Given the description of an element on the screen output the (x, y) to click on. 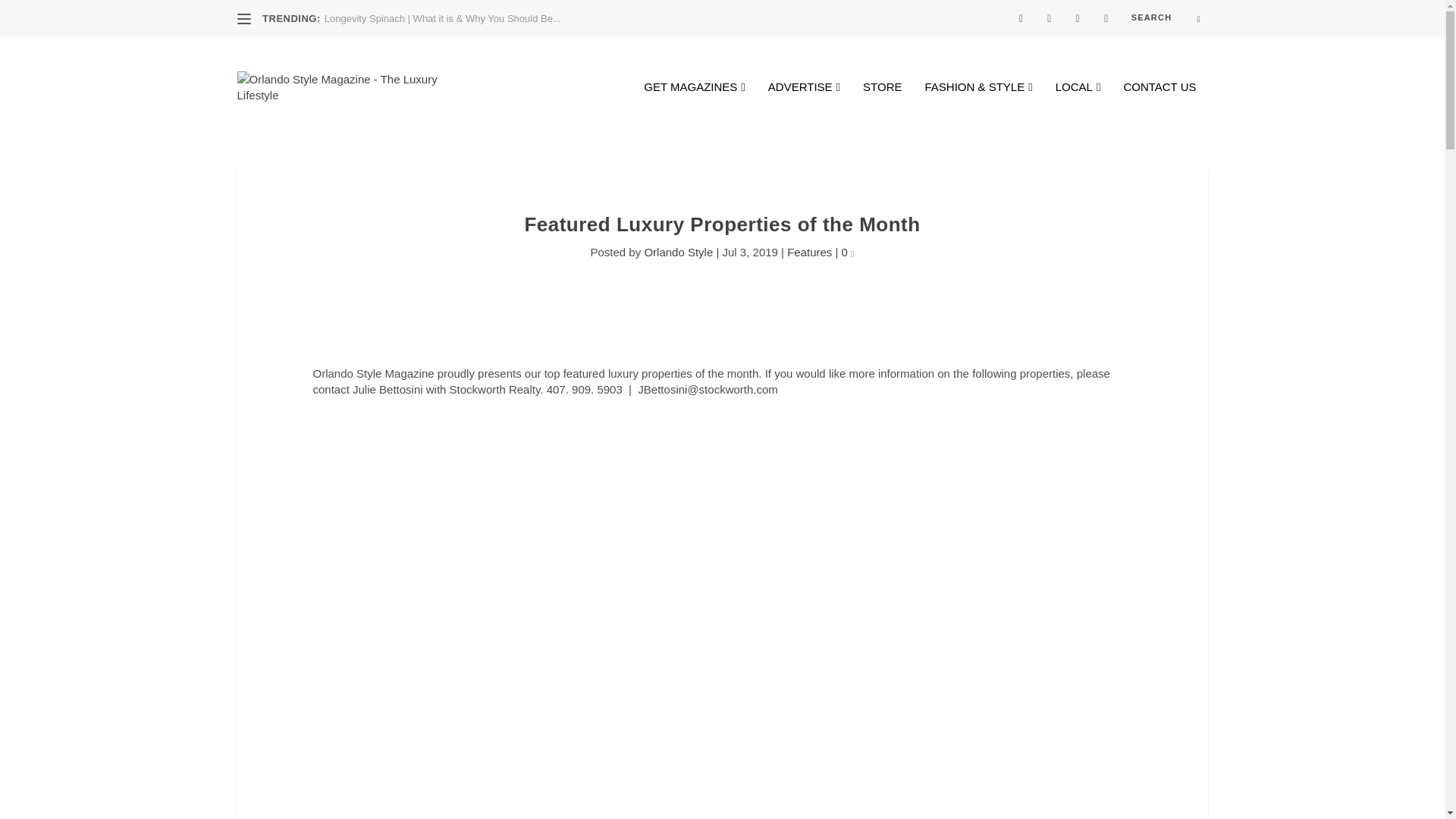
Posts by Orlando Style (678, 251)
ADVERTISE (804, 109)
GET MAGAZINES (694, 109)
Search for: (1165, 17)
